Given the description of an element on the screen output the (x, y) to click on. 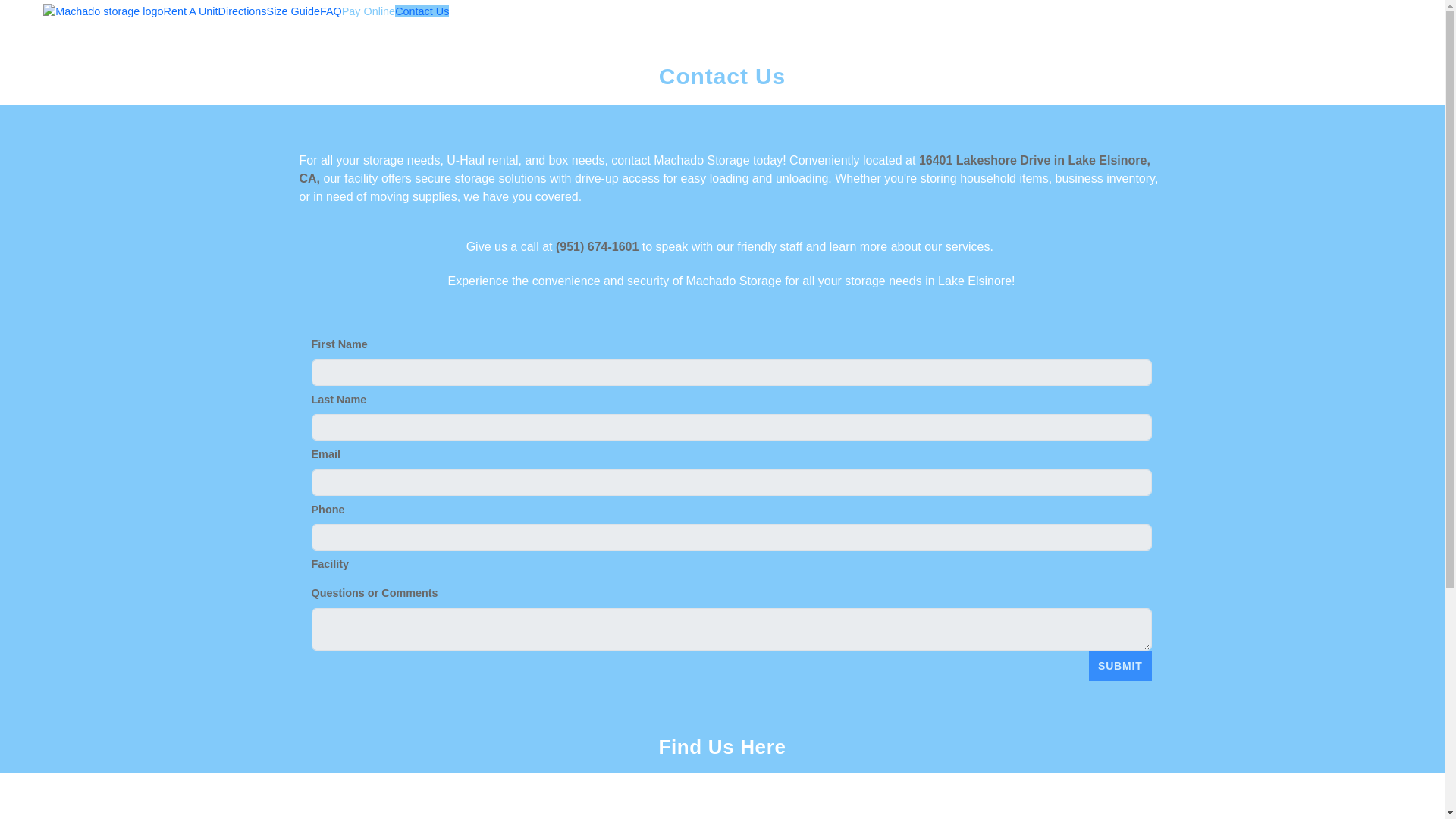
Pay Online (368, 10)
Size Guide (293, 10)
Rent A Unit (190, 10)
Contact Us (421, 10)
Directions (242, 10)
FAQ (331, 10)
SUBMIT (1120, 665)
Find Us Here (722, 746)
Machado storage logo (103, 12)
